Given the description of an element on the screen output the (x, y) to click on. 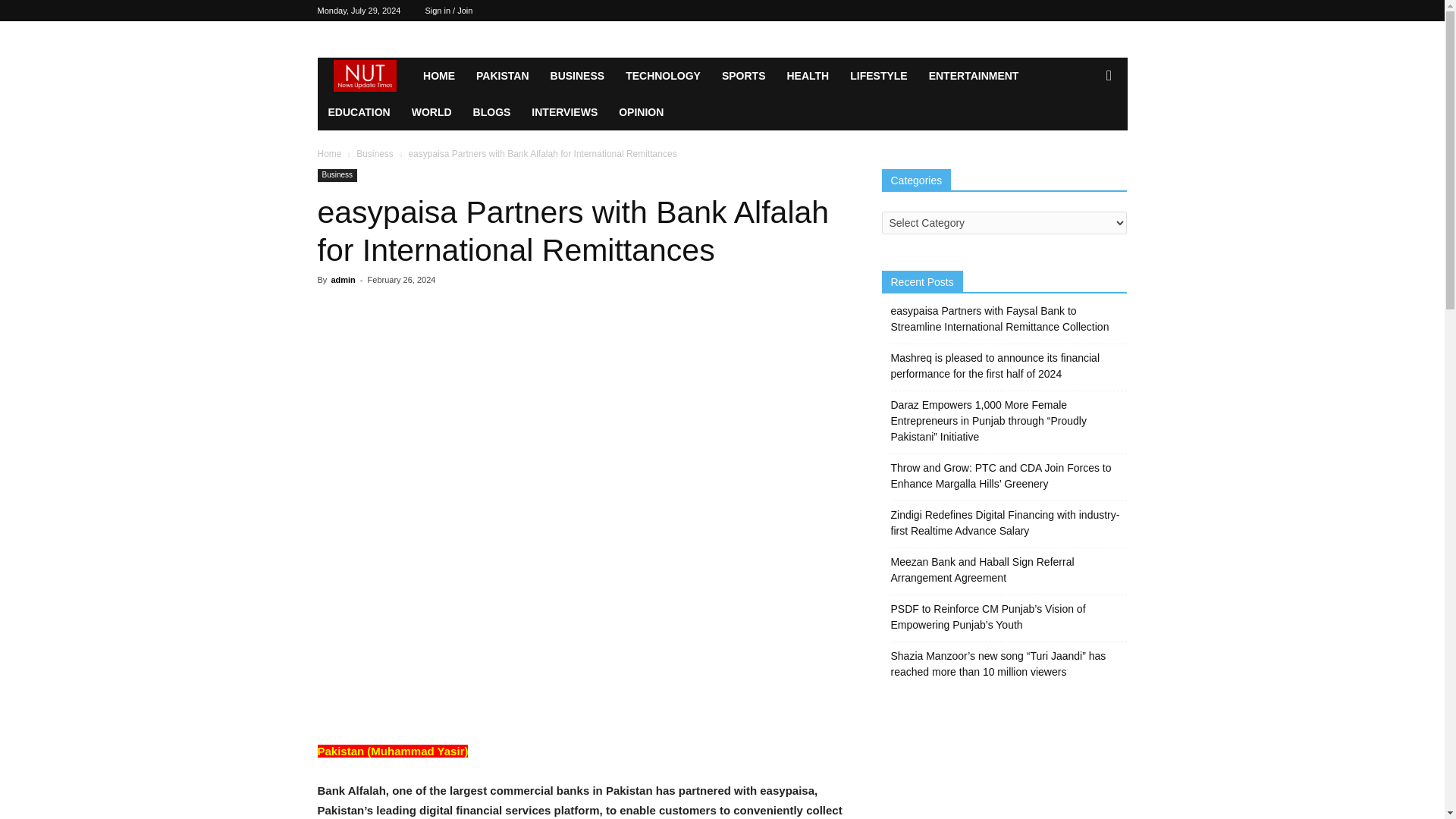
PAKISTAN (501, 75)
SPORTS (743, 75)
WORLD (432, 112)
HOME (438, 75)
BUSINESS (577, 75)
TECHNOLOGY (662, 75)
News Update Times (364, 76)
View all posts in Business (374, 153)
HEALTH (808, 75)
LIFESTYLE (878, 75)
ENTERTAINMENT (973, 75)
EDUCATION (358, 112)
